Given the description of an element on the screen output the (x, y) to click on. 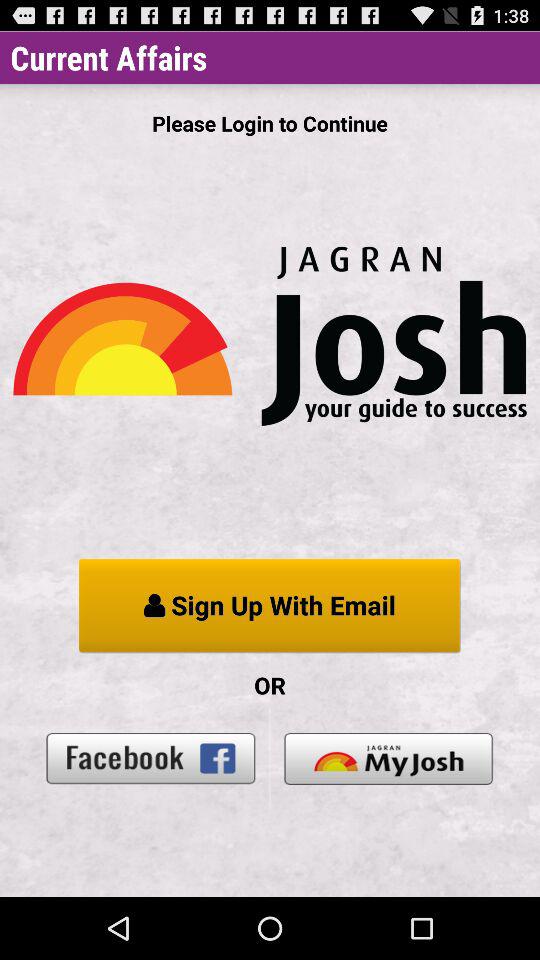
go to login (388, 758)
